Given the description of an element on the screen output the (x, y) to click on. 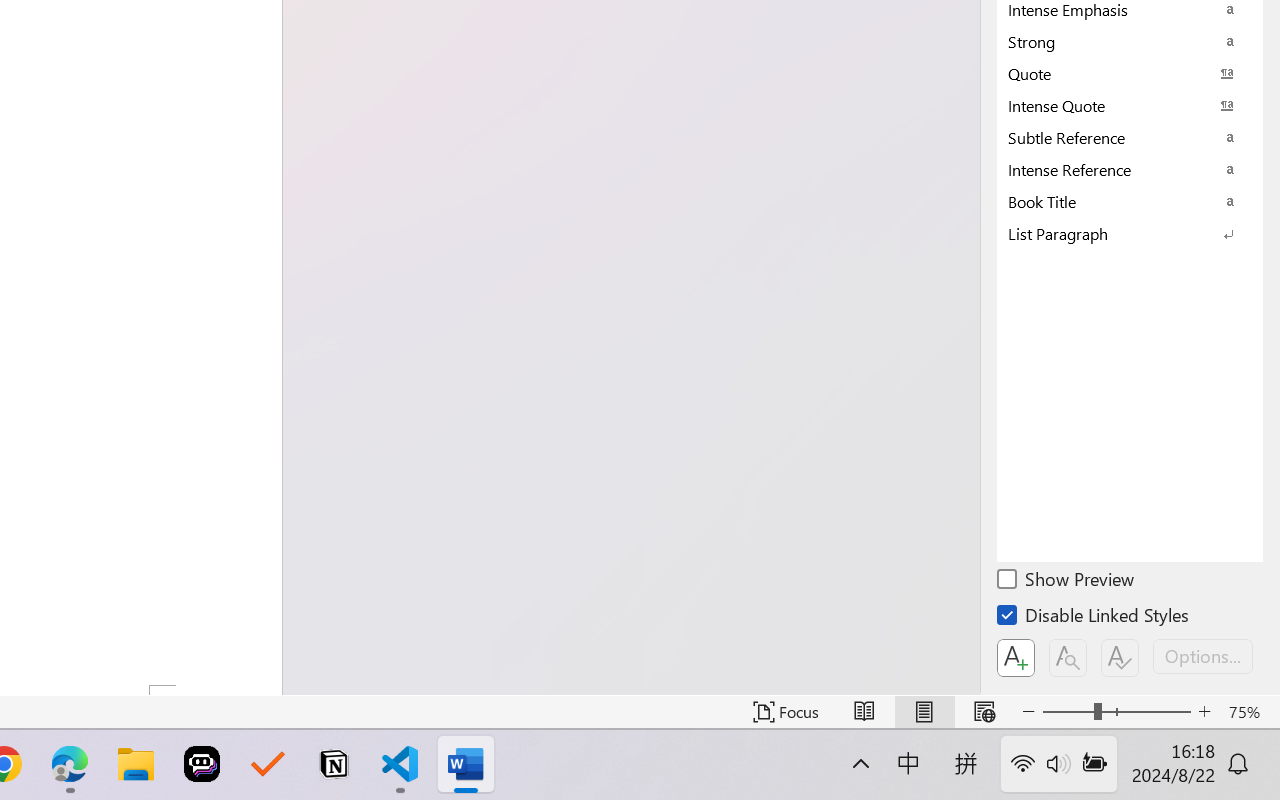
Options... (1203, 656)
Class: NetUIButton (1119, 657)
Strong (1130, 41)
Book Title (1130, 201)
Disable Linked Styles (1094, 618)
Zoom 75% (1249, 712)
Intense Quote (1130, 105)
Quote (1130, 73)
Show Preview (1067, 582)
